Given the description of an element on the screen output the (x, y) to click on. 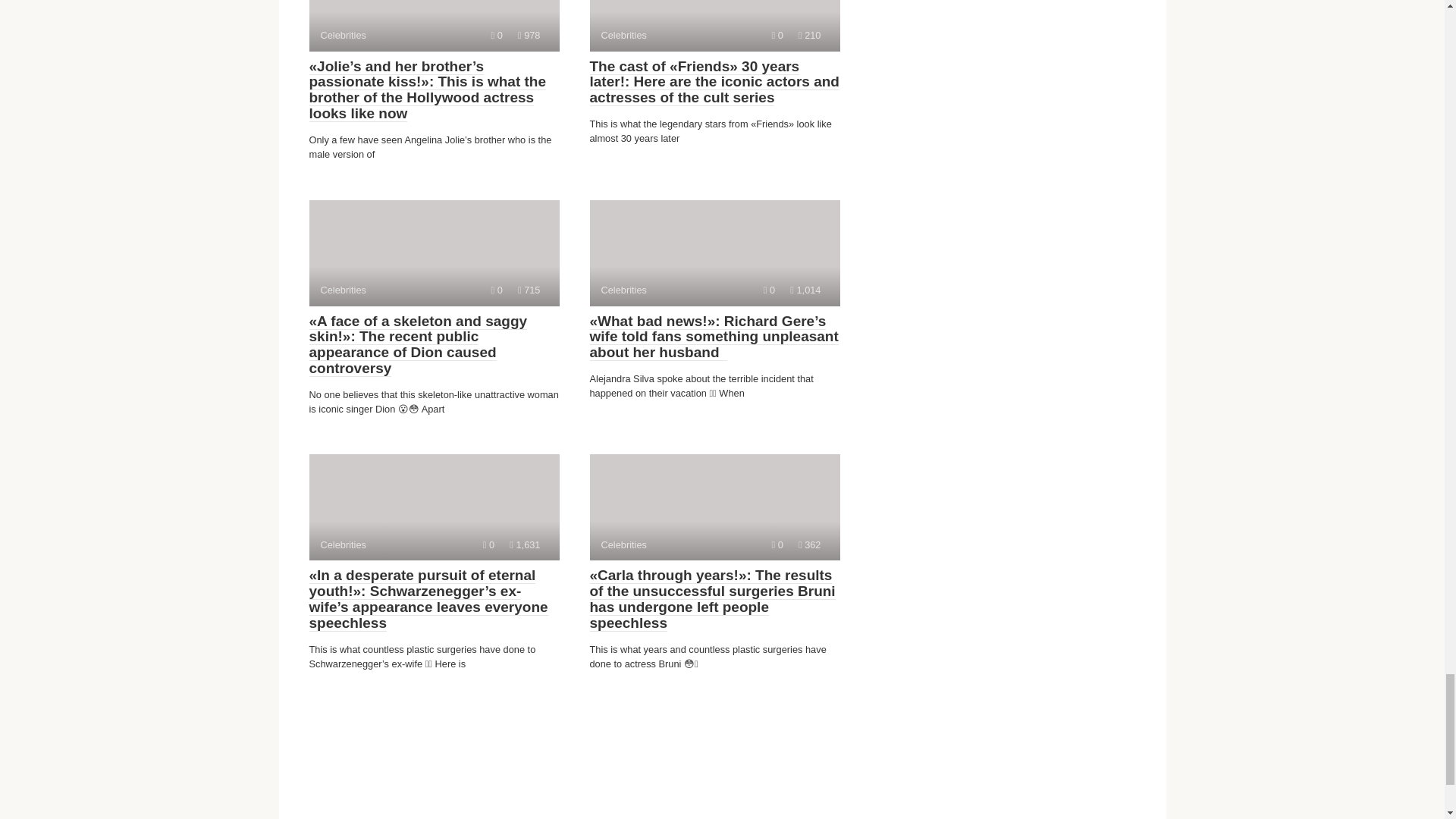
Views (433, 507)
Views (805, 289)
Views (714, 25)
Comments (529, 34)
Comments (809, 34)
Views (497, 34)
Comments (497, 289)
Views (714, 252)
Comments (524, 544)
Comments (489, 544)
